Given the description of an element on the screen output the (x, y) to click on. 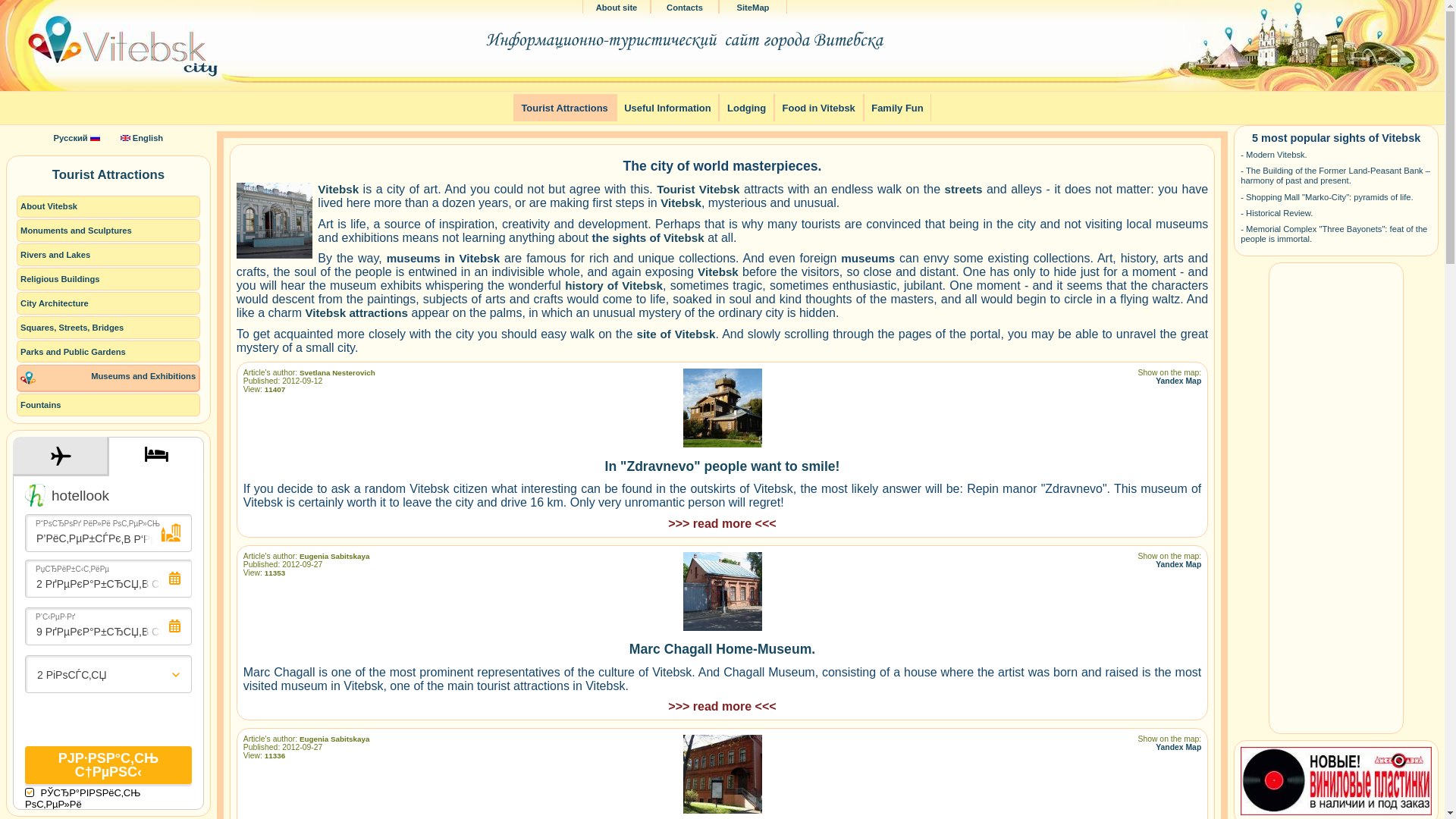
Vitebsk attractions Element type: text (355, 312)
Food in Vitebsk Element type: text (818, 107)
history of Vitebsk Element type: text (613, 285)
streets Element type: text (963, 188)
Lodging Element type: text (746, 107)
Parks and Public Gardens Element type: text (107, 351)
- Historical Review. Element type: text (1276, 212)
Vitebsk Element type: text (717, 271)
Family Fun Element type: text (897, 107)
site of Vitebsk Element type: text (675, 333)
Yandex Map Element type: text (1178, 564)
Tourist Vitebsk Element type: text (697, 188)
Museums and Exhibitions Element type: text (108, 378)
English Element type: text (142, 137)
City Architecture Element type: text (107, 302)
Marc Chagall Home-Museum. Element type: text (722, 648)
- Shopping Mall "Marko-City": pyramids of life. Element type: text (1326, 196)
Yandex Map Element type: text (1178, 747)
Vitebsk Element type: text (680, 202)
Religious Buildings Element type: text (107, 278)
Yandex Map Element type: text (1178, 380)
About Vitebsk Element type: text (107, 206)
In "Zdravnevo" people want to smile! Element type: text (722, 465)
>>> read more <<< Element type: text (721, 523)
Advertisement Element type: hover (1335, 496)
Vitebsk Element type: text (337, 188)
Rivers and Lakes Element type: text (107, 254)
Tourist Attractions Element type: text (564, 107)
Fountains Element type: text (107, 404)
Tourist Attractions Element type: text (108, 174)
>>> read more <<< Element type: text (721, 705)
Monuments and Sculptures Element type: text (107, 230)
Useful Information Element type: text (667, 107)
- Modern Vitebsk. Element type: text (1273, 154)
Squares, Streets, Bridges Element type: text (107, 327)
Vitebsk Element type: text (683, 237)
Shmyrev Museum in Vitebsk Element type: hover (277, 222)
